Given the description of an element on the screen output the (x, y) to click on. 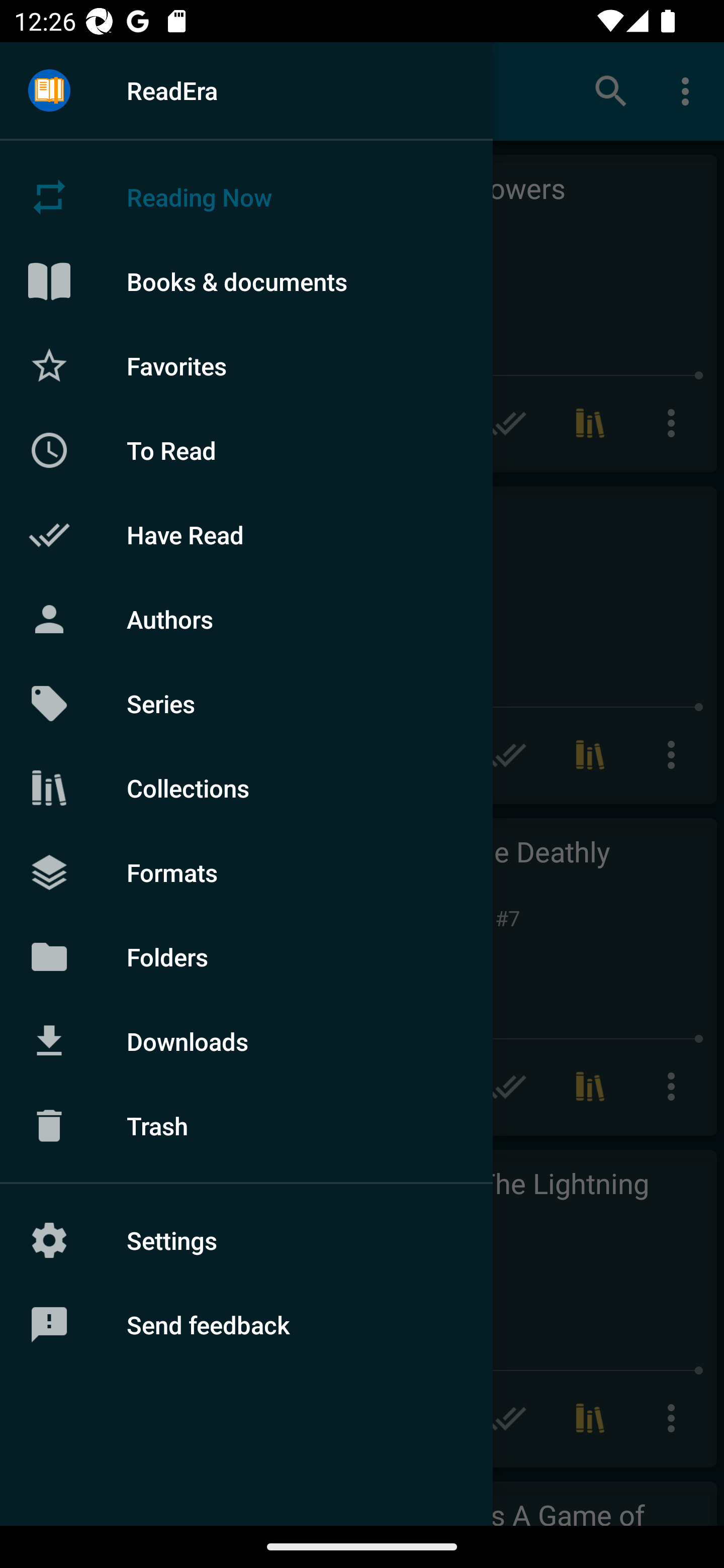
Menu (49, 91)
ReadEra (246, 89)
Search books & documents (611, 90)
More options (688, 90)
Reading Now (246, 197)
Books & documents (246, 281)
Favorites (246, 365)
To Read (246, 449)
Have Read (246, 534)
Authors (246, 619)
Series (246, 703)
Collections (246, 787)
Formats (246, 871)
Folders (246, 956)
Downloads (246, 1040)
Trash (246, 1125)
Settings (246, 1239)
Send feedback (246, 1324)
